Given the description of an element on the screen output the (x, y) to click on. 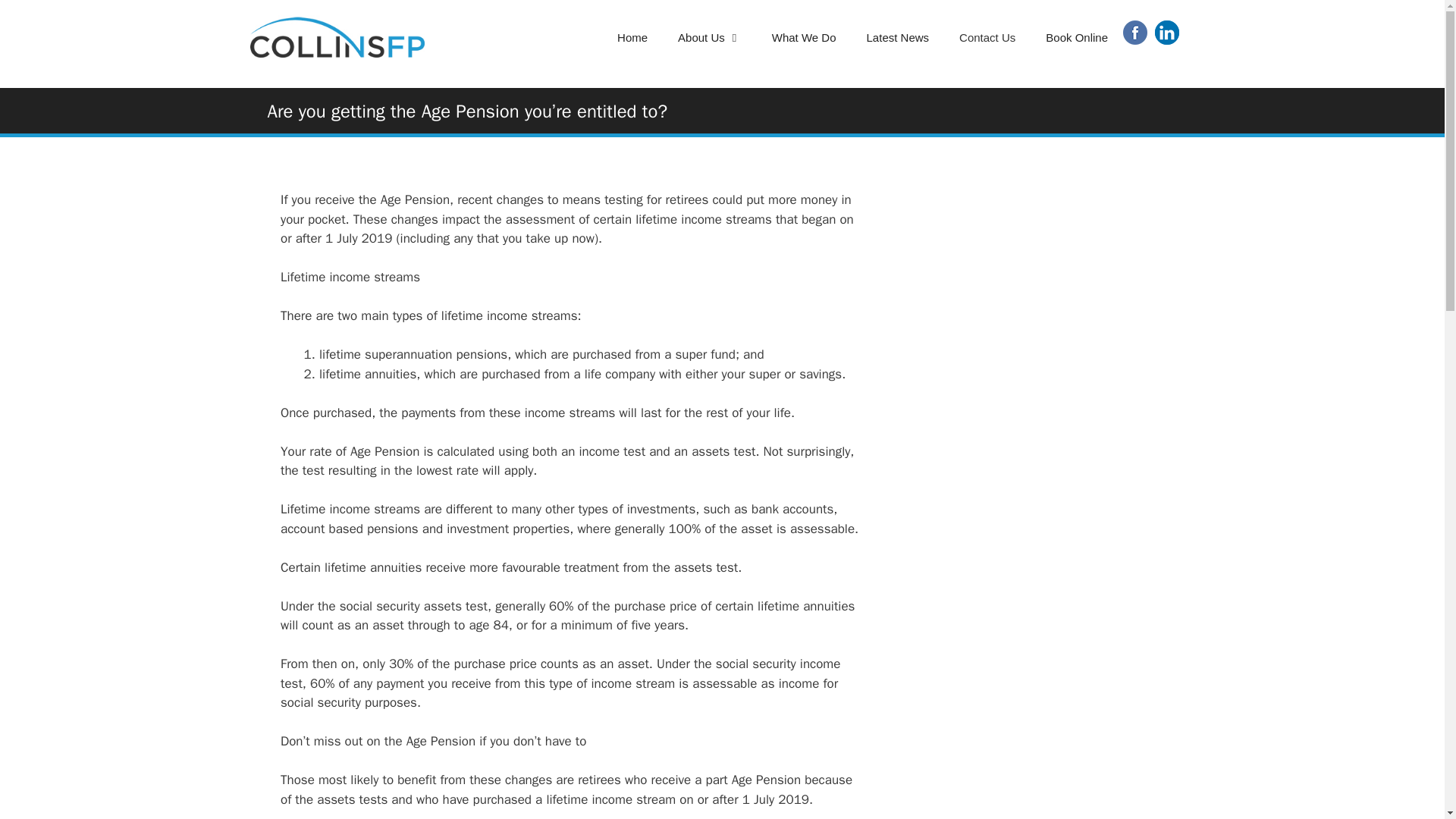
Latest News (897, 37)
Contact Us (986, 37)
What We Do (804, 37)
About Us (709, 37)
Home (632, 37)
Book Online (1076, 37)
